Given the description of an element on the screen output the (x, y) to click on. 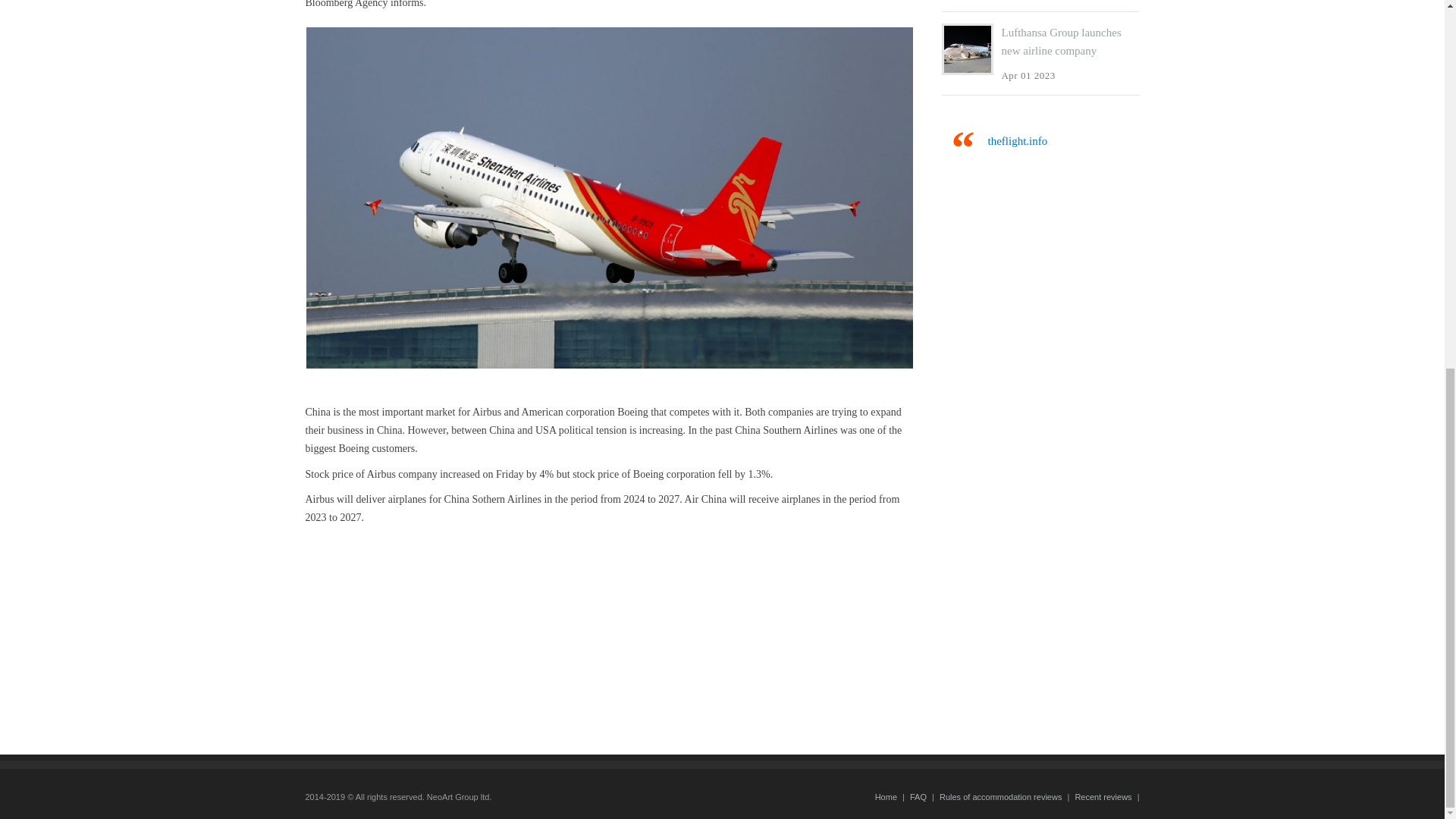
Rules of accommodation reviews (1000, 796)
Home (885, 796)
Recent reviews (1102, 796)
Lufthansa Group launches new airline company (1061, 41)
FAQ (918, 796)
theflight.info (1016, 141)
